Given the description of an element on the screen output the (x, y) to click on. 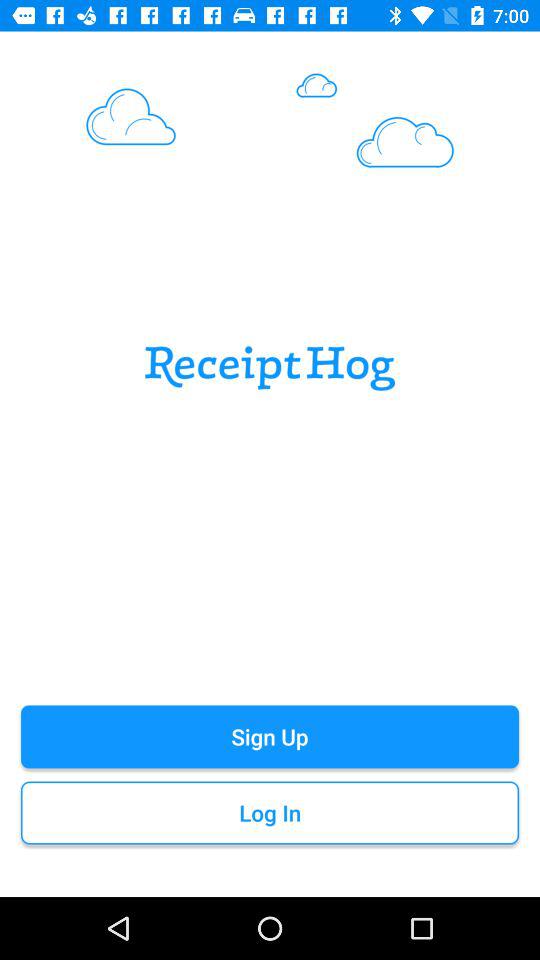
launch item below sign up (270, 812)
